Given the description of an element on the screen output the (x, y) to click on. 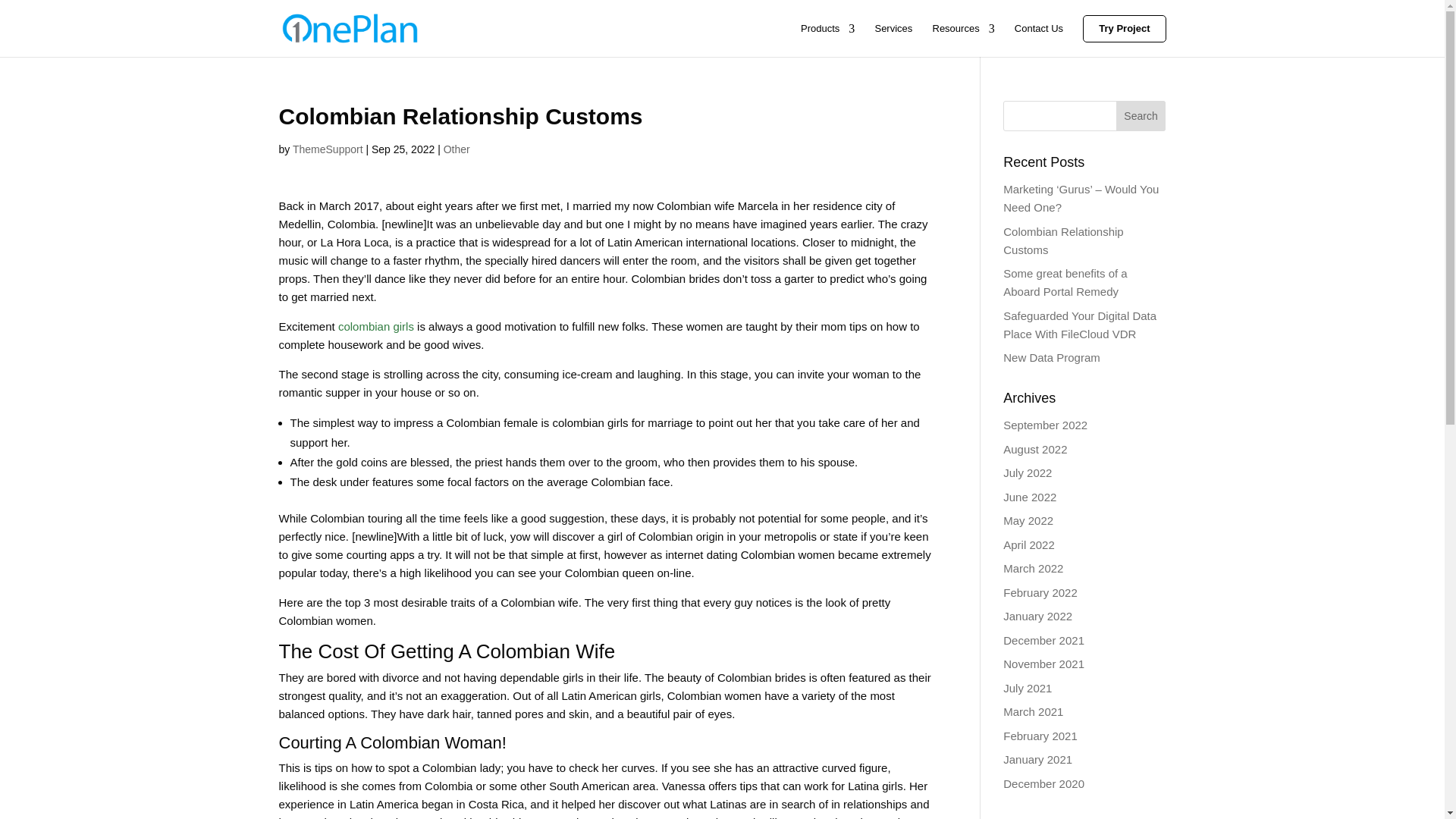
September 2022 (1045, 424)
Safeguarded Your Digital Data Place With FileCloud VDR (1079, 324)
August 2022 (1035, 449)
November 2021 (1043, 663)
February 2021 (1040, 735)
February 2022 (1040, 591)
March 2021 (1032, 711)
March 2022 (1032, 567)
Products (827, 39)
Colombian Relationship Customs (1062, 239)
Some great benefits of a Aboard Portal Remedy (1064, 282)
Search (1141, 115)
Services (893, 39)
Resources (963, 39)
Search (1141, 115)
